Given the description of an element on the screen output the (x, y) to click on. 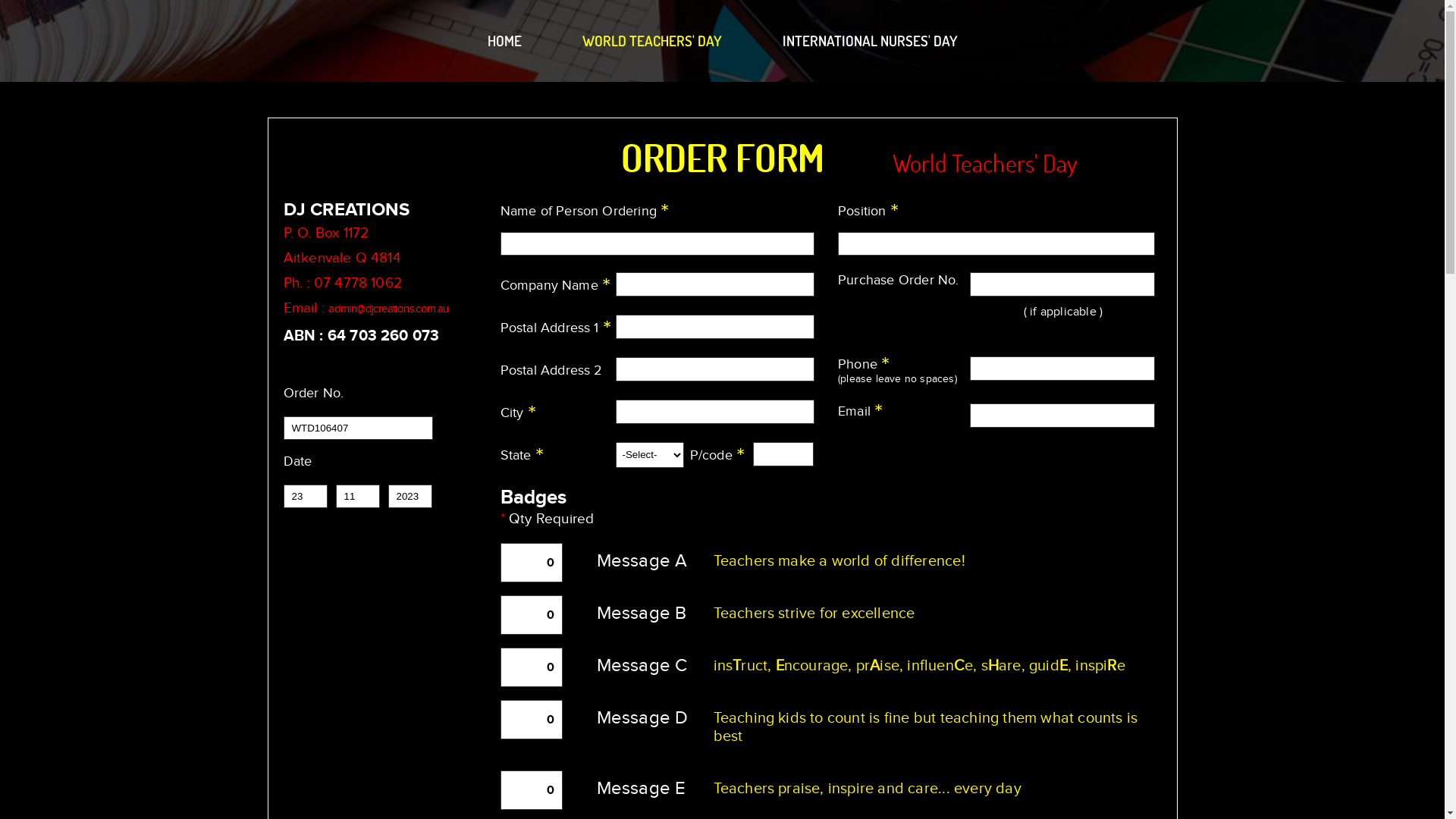
WORLD TEACHERS' DAY Element type: text (651, 44)
INTERNATIONAL NURSES' DAY Element type: text (869, 44)
HOME Element type: text (503, 44)
admin@djcreations.com.au Element type: text (388, 308)
